Given the description of an element on the screen output the (x, y) to click on. 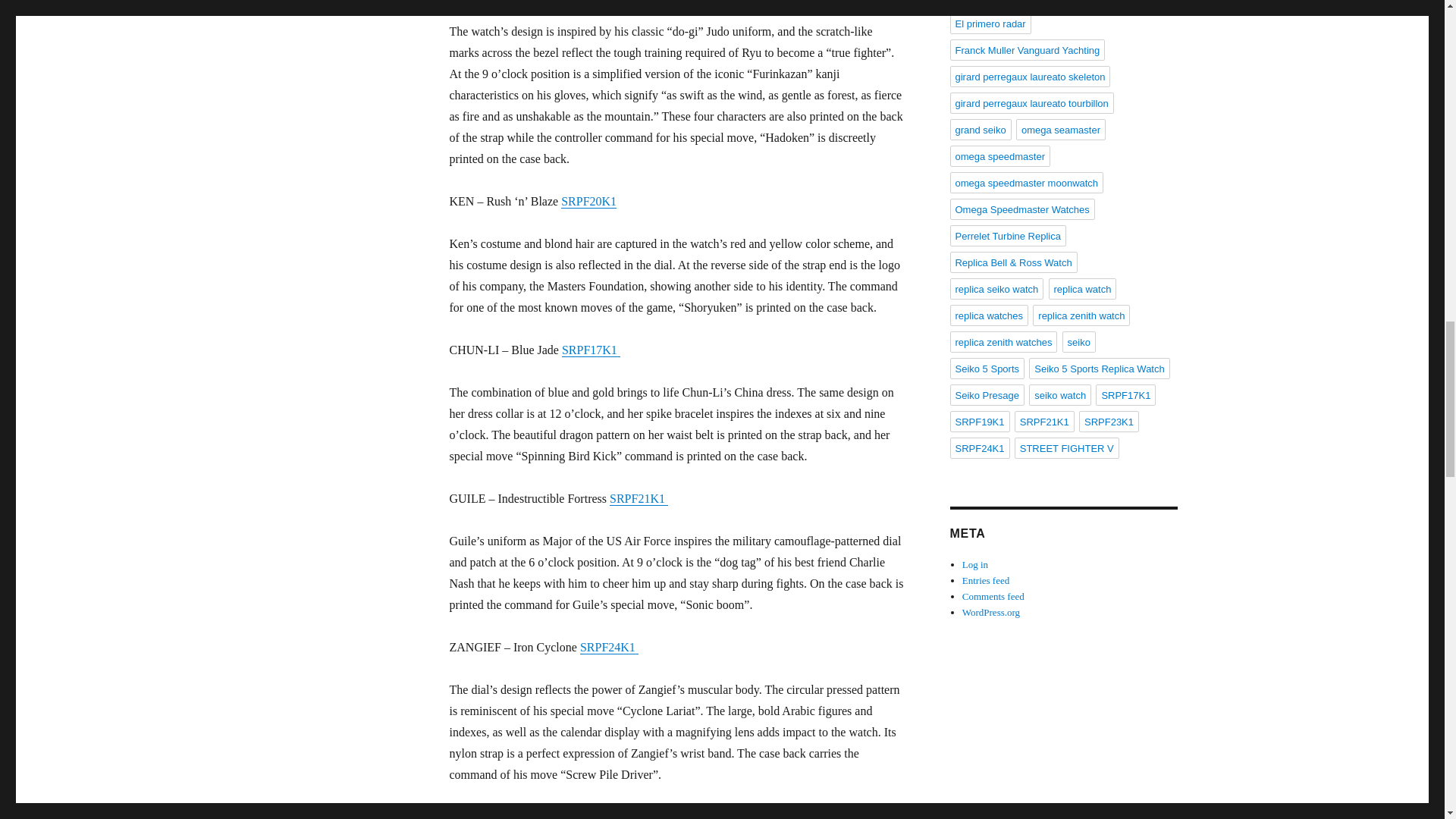
SRPF20K1 (587, 201)
SRPF23K1  (627, 814)
SRPF24K1  (609, 646)
SRPF17K1  (591, 349)
SRPF21K1  (639, 498)
